Given the description of an element on the screen output the (x, y) to click on. 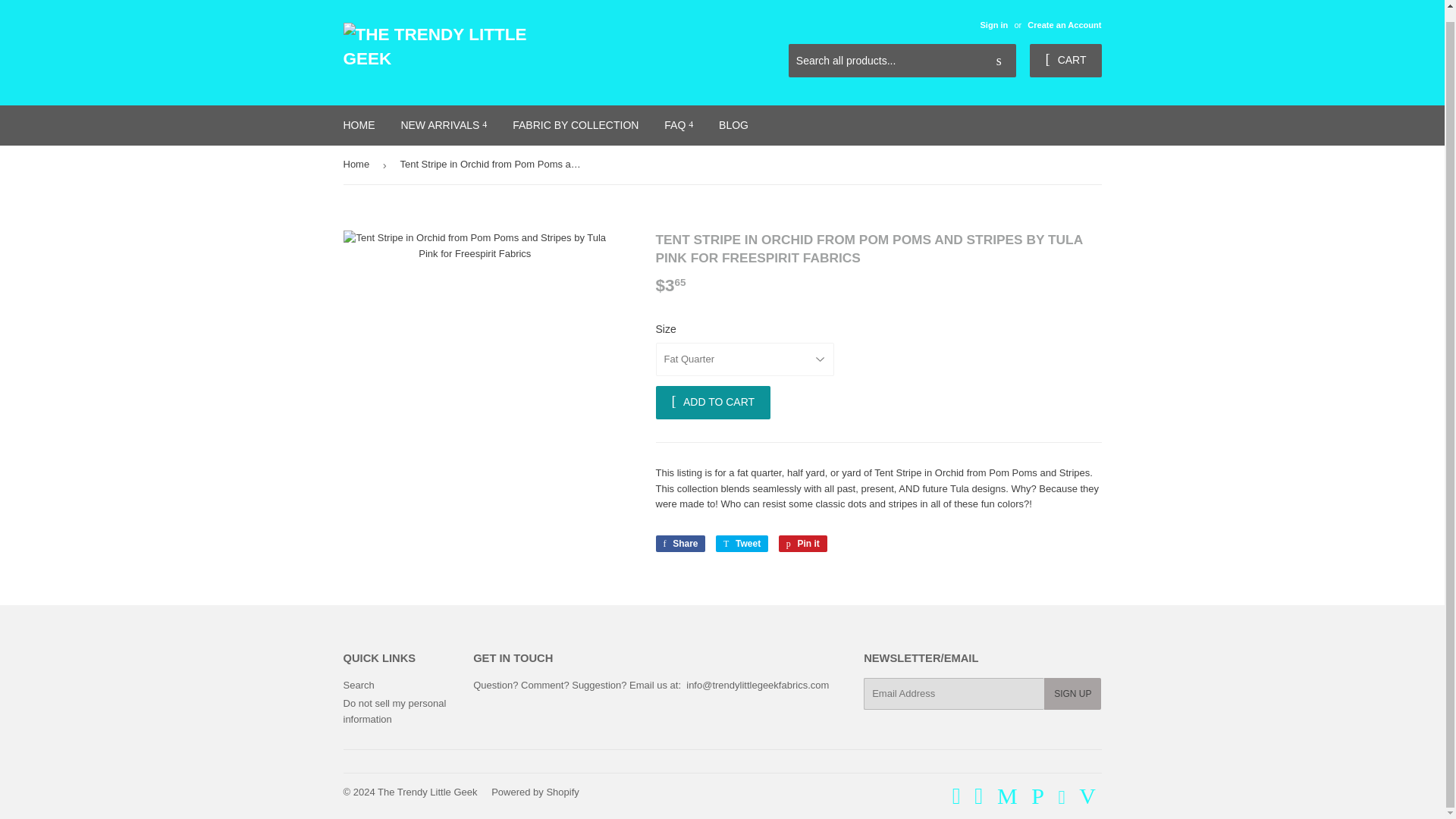
CART (1064, 60)
Tweet on Twitter (742, 543)
Pin on Pinterest (802, 543)
Create an Account (1063, 24)
FAQ (678, 124)
Share on Facebook (679, 543)
NEW ARRIVALS (442, 124)
BLOG (733, 124)
Sign in (993, 24)
HOME (359, 124)
